Given the description of an element on the screen output the (x, y) to click on. 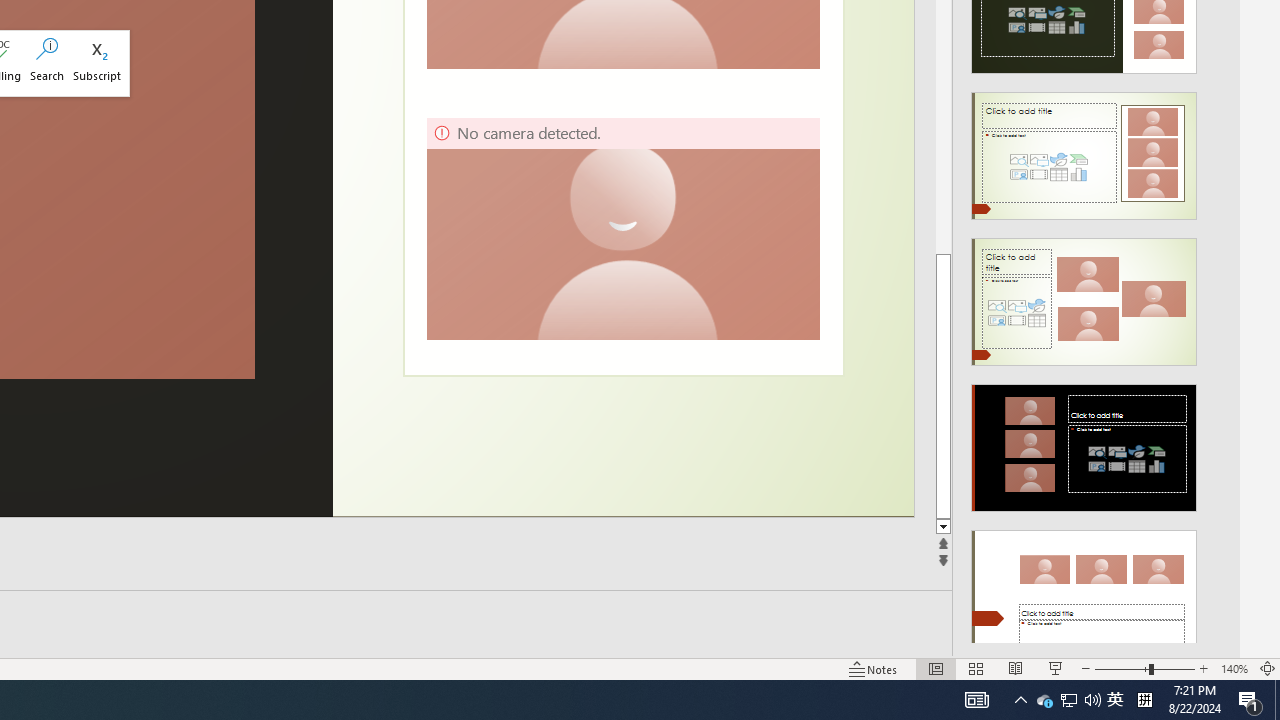
Slide Show (1055, 668)
Slide Sorter (975, 668)
Zoom (1144, 668)
Zoom 140% (1234, 668)
Reading View (1015, 668)
Zoom Out (1121, 668)
Design Idea (1083, 587)
Class: NetUIImage (1083, 593)
Zoom to Fit  (1267, 668)
Search (47, 62)
Line down (943, 527)
Notes  (874, 668)
Subscript (97, 62)
Normal (936, 668)
Camera 4, No camera detected. (622, 228)
